Given the description of an element on the screen output the (x, y) to click on. 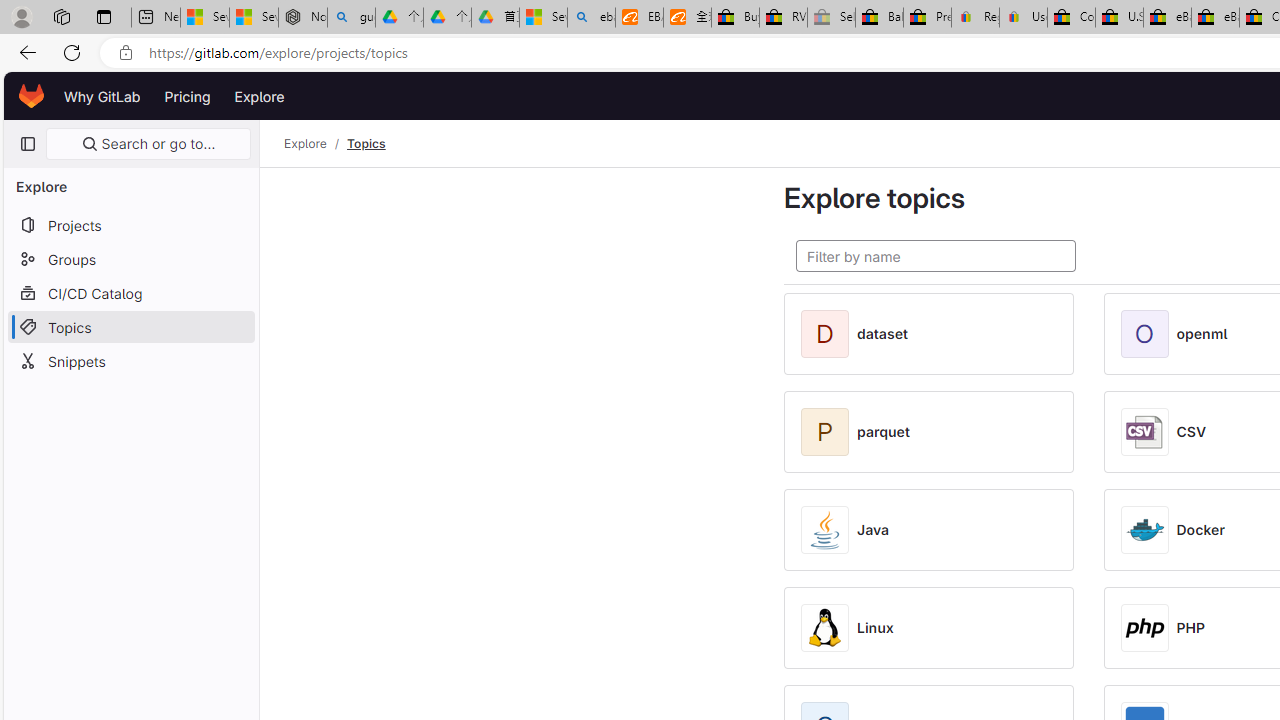
parquet (883, 431)
Explore/ (316, 143)
Sell worldwide with eBay - Sleeping (831, 17)
Snippets (130, 360)
Docker (1200, 529)
eBay Inc. Reports Third Quarter 2023 Results (1215, 17)
D (829, 334)
U.S. State Privacy Disclosures - eBay Inc. (1119, 17)
Explore (305, 143)
PHP (1190, 628)
